Given the description of an element on the screen output the (x, y) to click on. 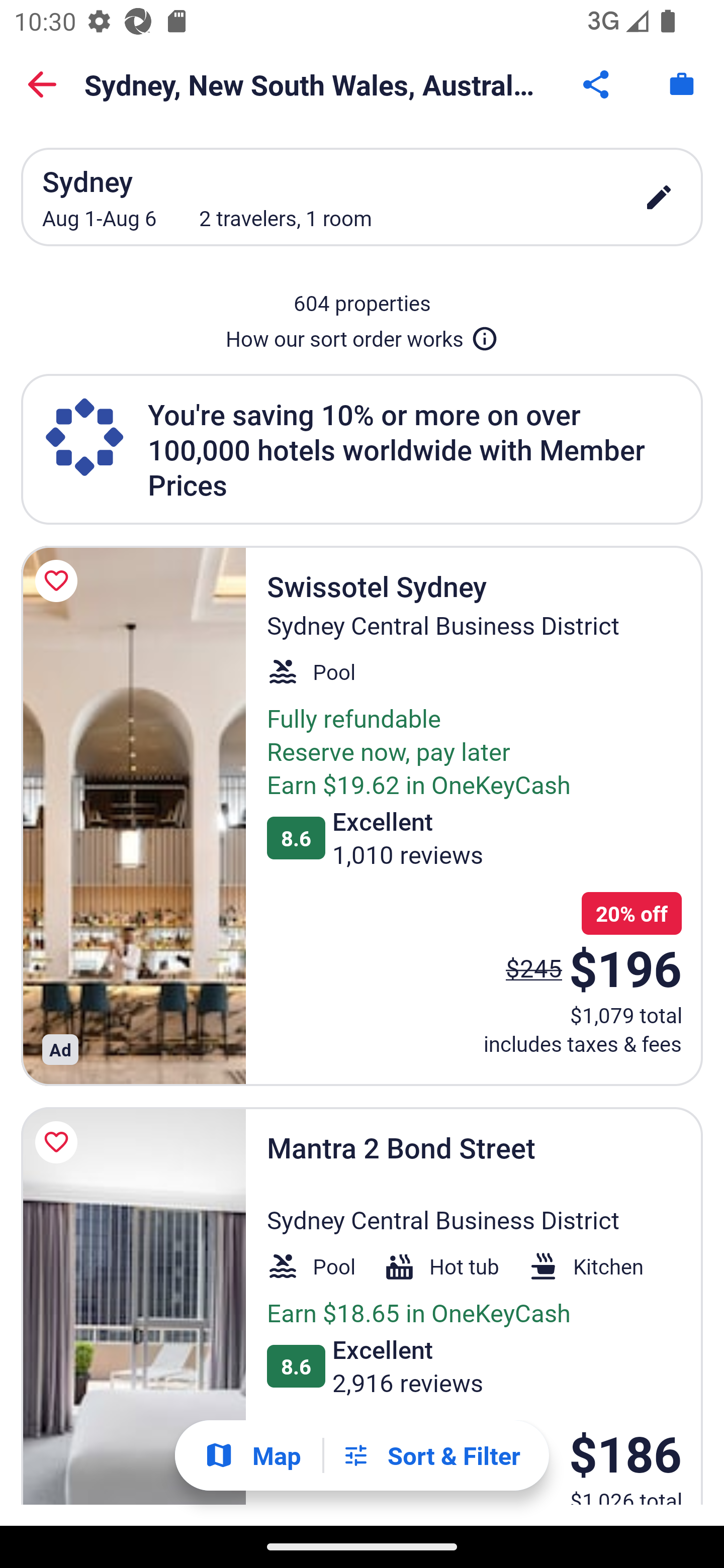
Back (42, 84)
Share Button (597, 84)
Trips. Button (681, 84)
Sydney Aug 1-Aug 6 2 travelers, 1 room edit (361, 196)
How our sort order works (361, 334)
Save Swissotel Sydney to a trip (59, 580)
Swissotel Sydney (133, 815)
$245 The price was $245 (533, 967)
Save Mantra 2 Bond Street to a trip (59, 1141)
Mantra 2 Bond Street (133, 1306)
Filters Sort & Filter Filters Button (430, 1455)
Show map Map Show map Button (252, 1455)
